Given the description of an element on the screen output the (x, y) to click on. 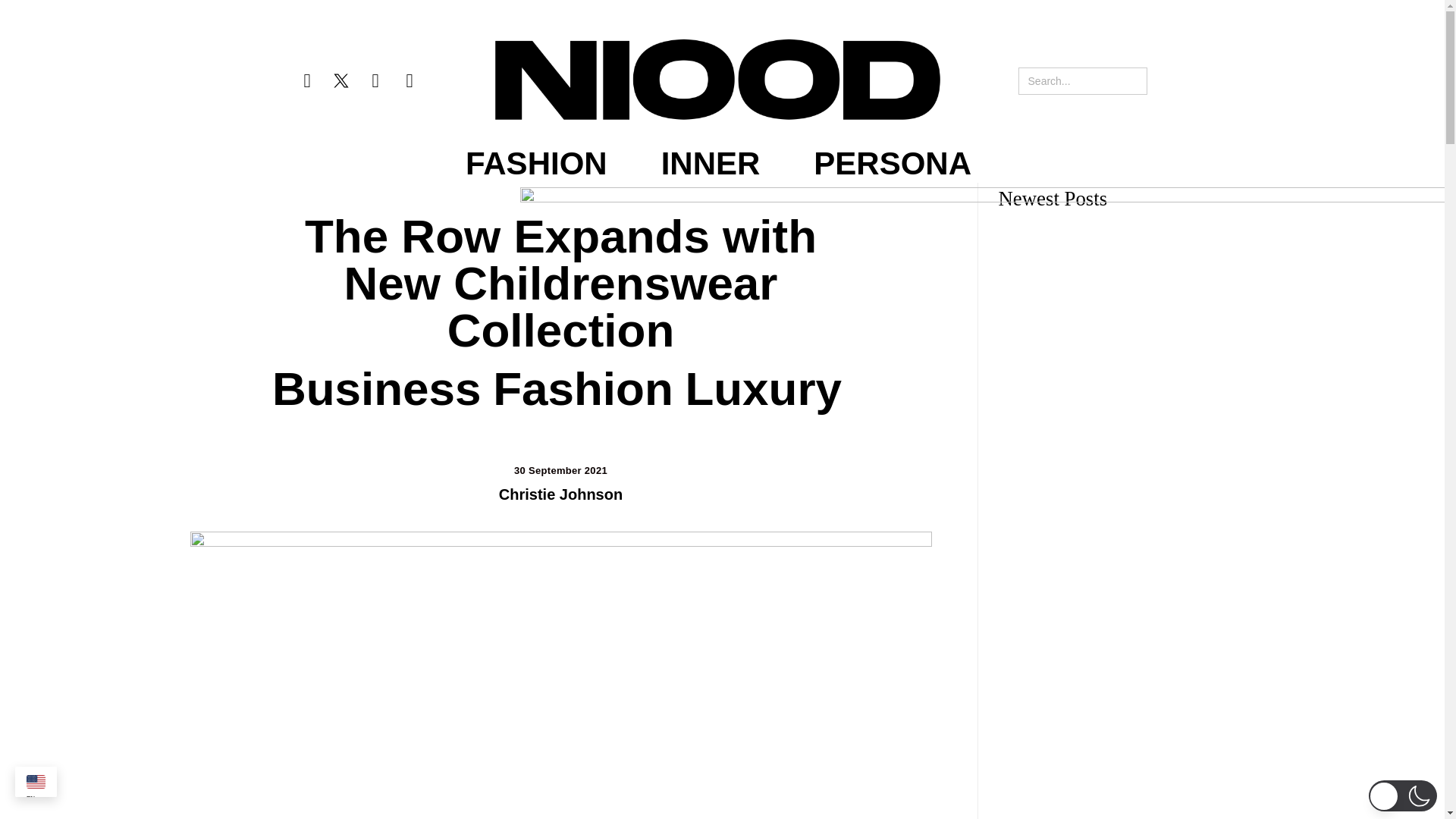
Luxury (762, 388)
Business (376, 388)
Fashion (582, 388)
FASHION (536, 163)
INNER (710, 163)
Christie Johnson (561, 494)
PERSONA (892, 163)
